Given the description of an element on the screen output the (x, y) to click on. 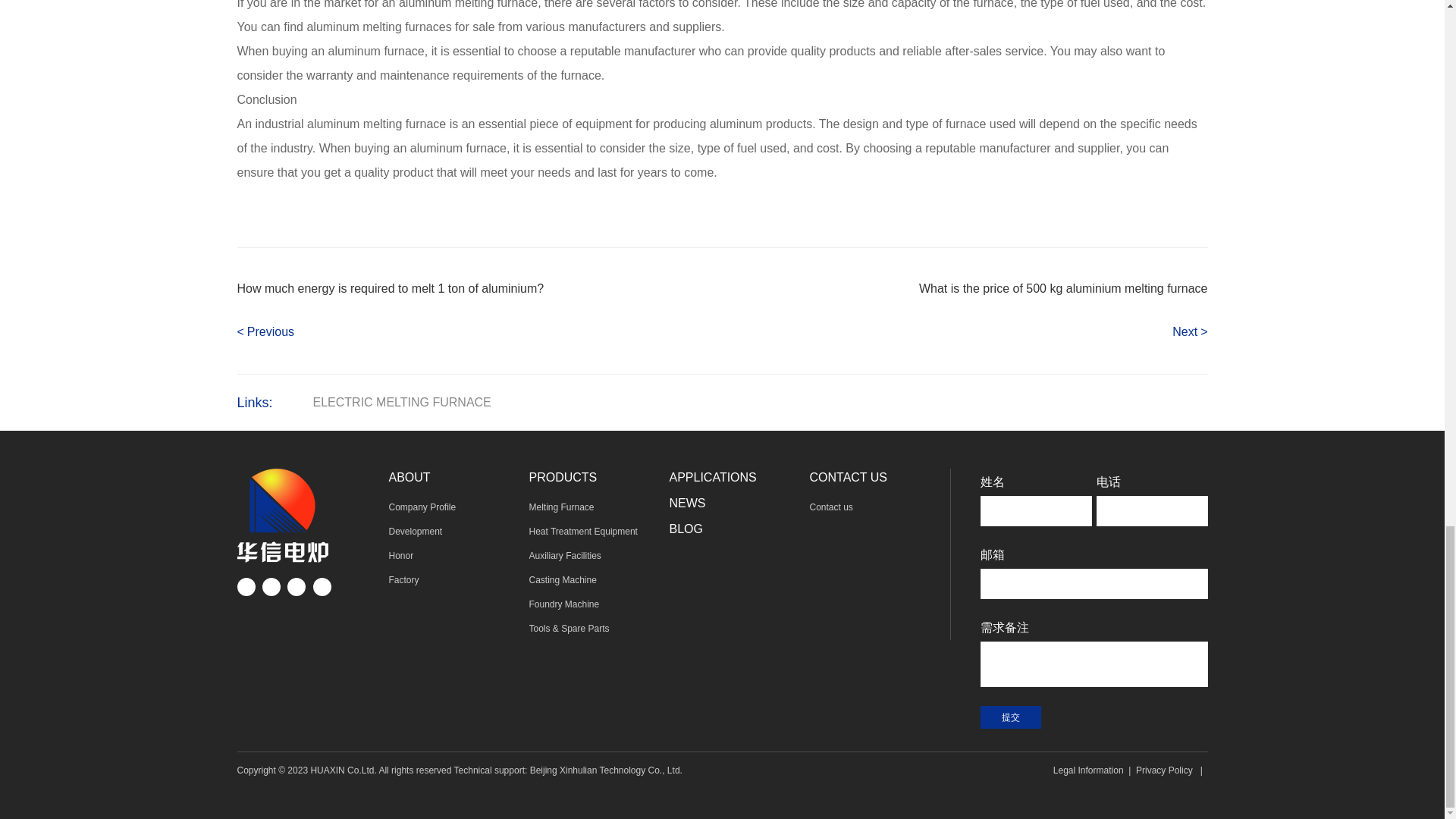
flogo (281, 515)
